Given the description of an element on the screen output the (x, y) to click on. 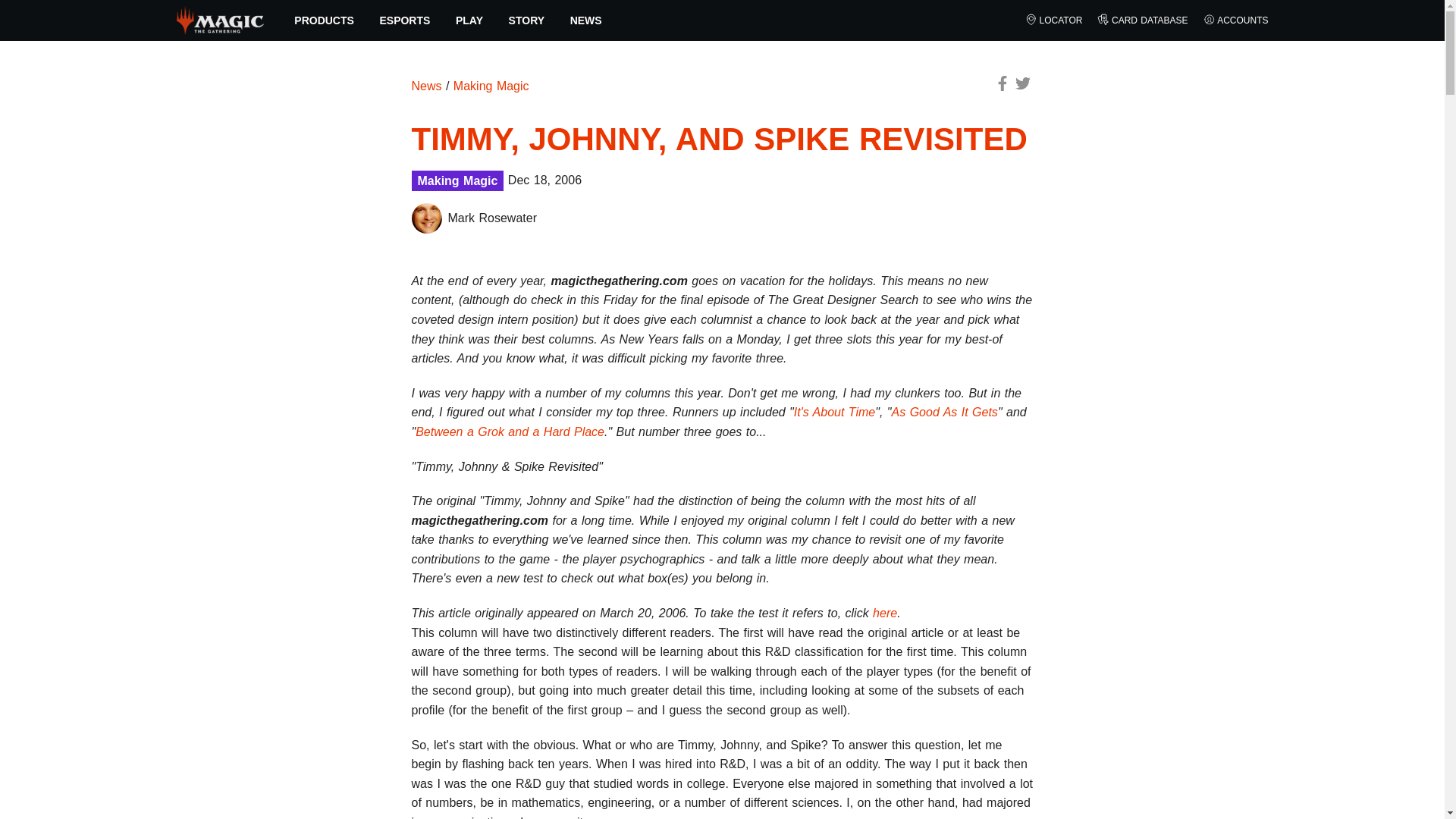
ESPORTS (405, 20)
PLAY (469, 20)
PRODUCTS (324, 20)
